Given the description of an element on the screen output the (x, y) to click on. 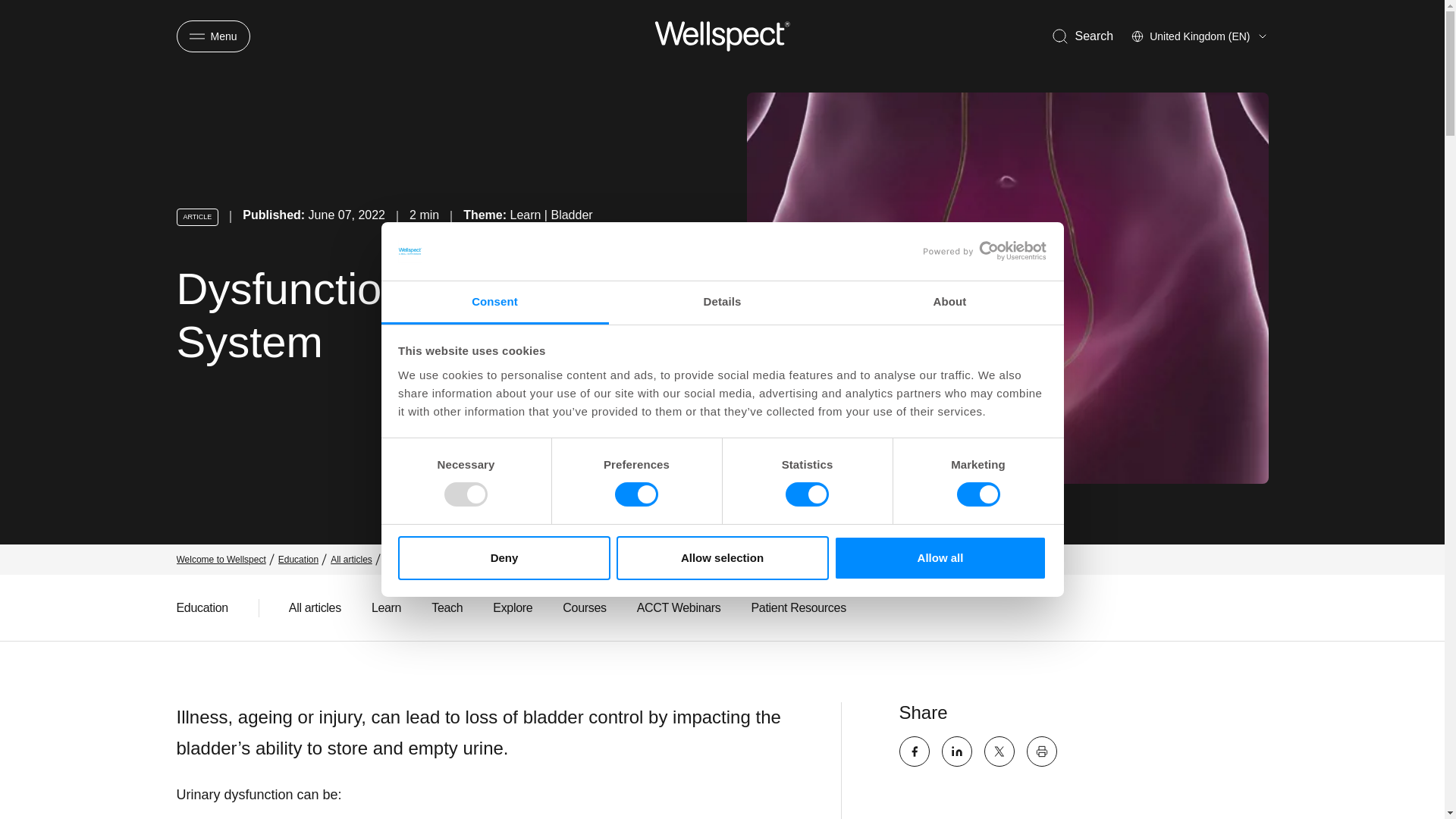
Consent (494, 302)
About (948, 302)
Details (721, 302)
